Given the description of an element on the screen output the (x, y) to click on. 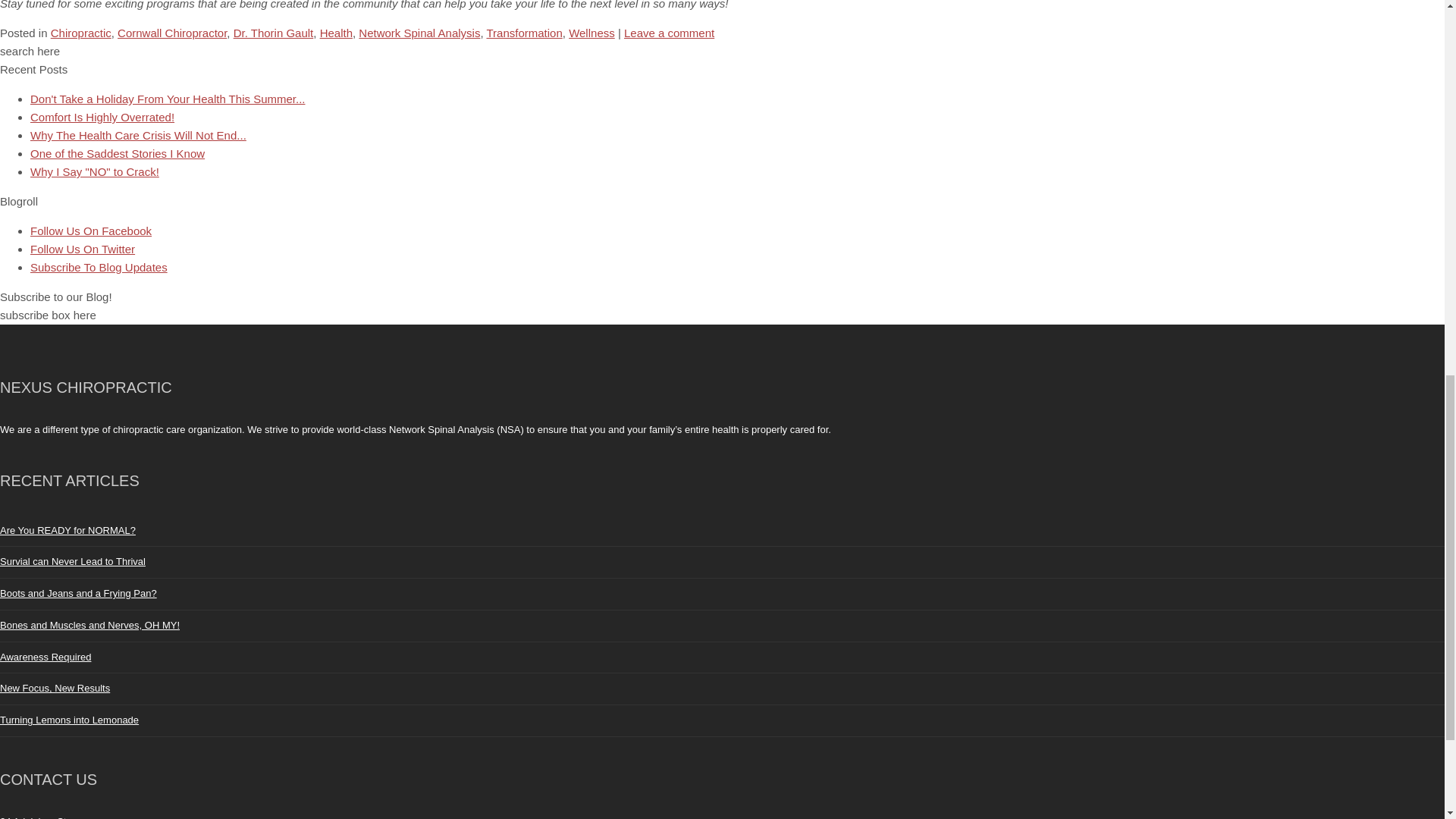
Don't Take a Holiday From Your Health This Summer... (167, 98)
Cornwall Chiropractor (172, 32)
Survial can Never Lead to Thrival (72, 561)
Chiropractic (81, 32)
Why The Health Care Crisis Will Not End... (138, 134)
Bones and Muscles and Nerves, OH MY! (89, 624)
Comfort Is Highly Overrated! (102, 116)
Health (336, 32)
Dr. Thorin Gault (273, 32)
Leave a comment (669, 32)
Wellness (591, 32)
Are You READY for NORMAL? (67, 530)
Transformation (524, 32)
One of the Saddest Stories I Know (117, 153)
New Focus, New Results (55, 687)
